Given the description of an element on the screen output the (x, y) to click on. 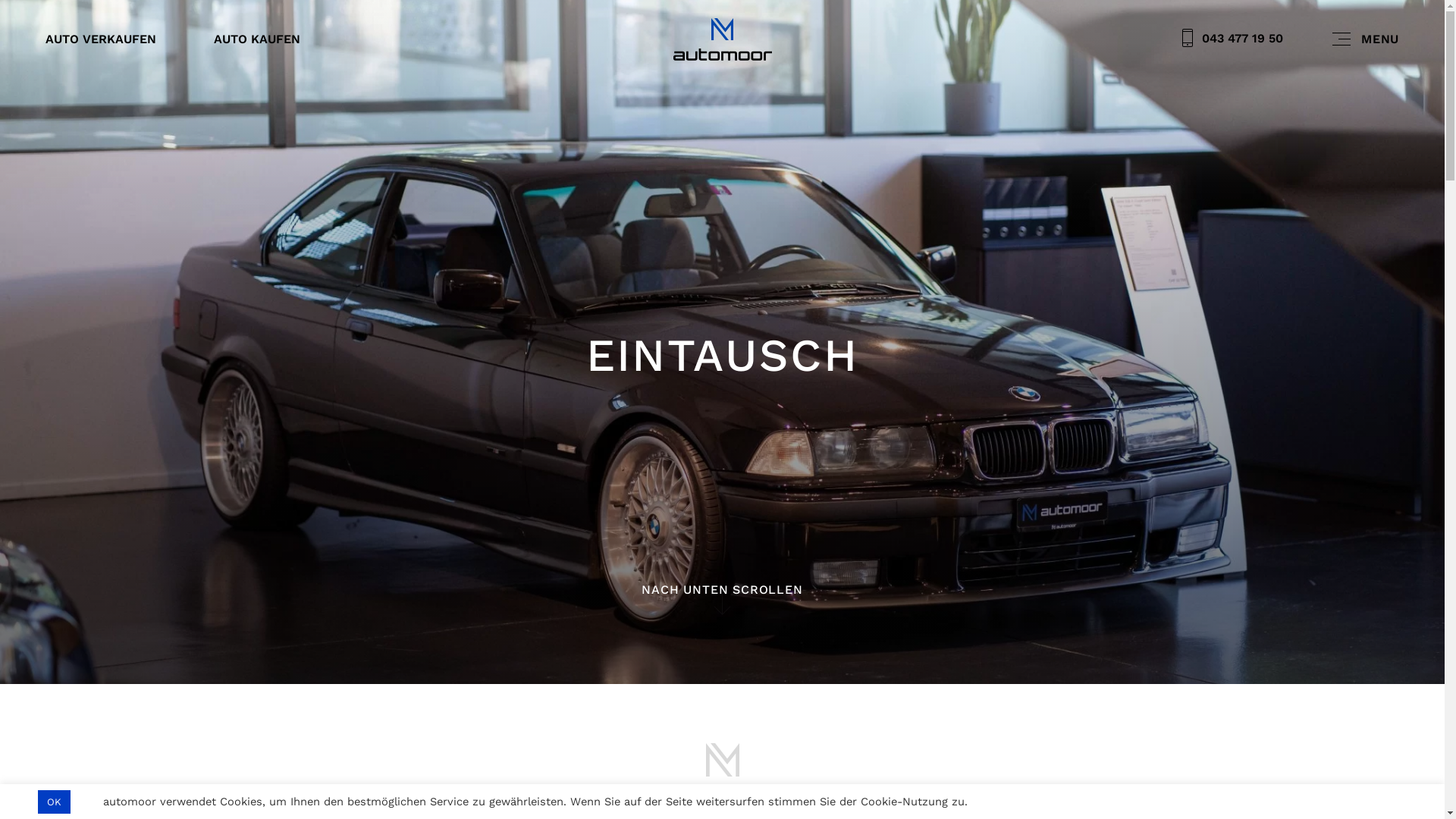
TikTok Element type: text (1026, 755)
Facebook Element type: text (1058, 755)
AUTO KAUFEN Element type: text (256, 39)
AGB Element type: text (213, 704)
Sign up Element type: text (1222, 684)
Linkedin Element type: text (994, 755)
MENU Element type: text (1365, 39)
043 477 19 50 Element type: text (1232, 38)
automoor Element type: hover (722, 39)
OK Element type: text (53, 801)
Deutsch Element type: text (229, 651)
Datenschutz Element type: text (271, 704)
info@automoor.ch Element type: text (796, 735)
Englisch Element type: text (292, 651)
AUTO VERKAUFEN Element type: text (100, 39)
Instagram Element type: text (1090, 755)
Impressum Element type: text (344, 704)
YouTube Element type: text (1122, 755)
